Given the description of an element on the screen output the (x, y) to click on. 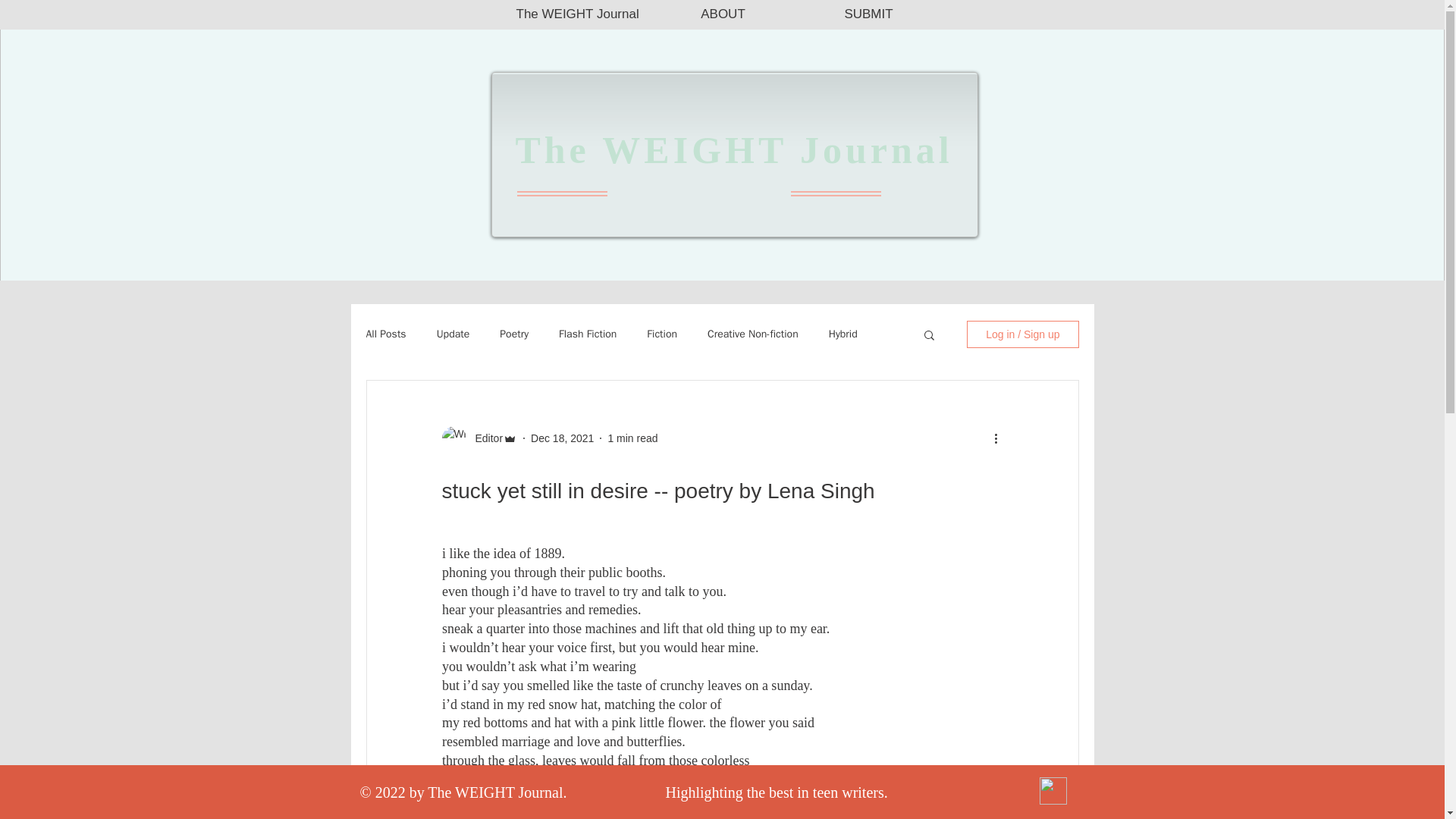
Creative Non-fiction (752, 334)
Dec 18, 2021 (562, 438)
1 min read (632, 438)
The WEIGHT Journal (577, 14)
Hybrid (842, 334)
ABOUT (723, 14)
Poetry (513, 334)
Update (453, 334)
SUBMIT (869, 14)
Fiction (661, 334)
